Given the description of an element on the screen output the (x, y) to click on. 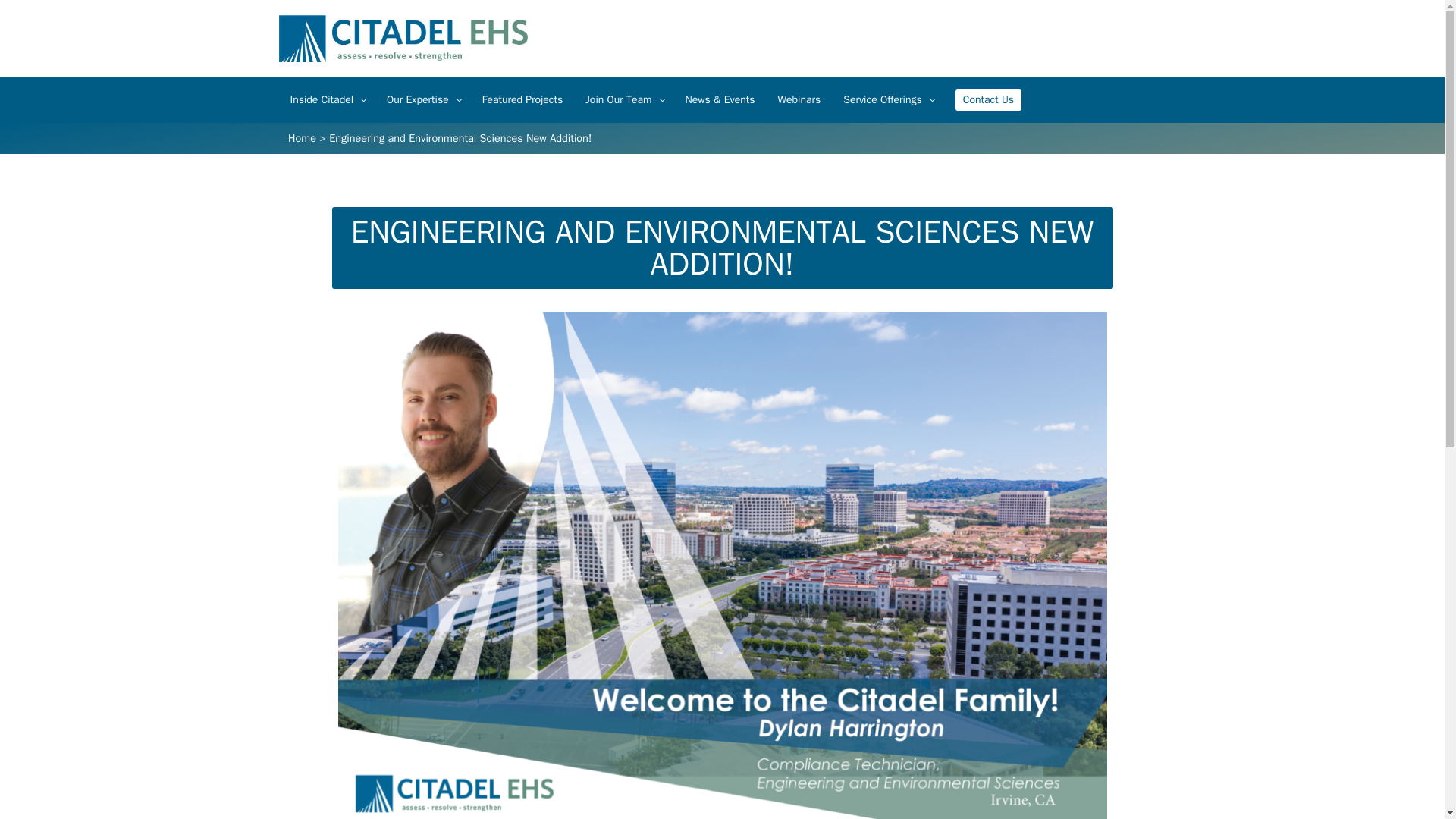
Service Offerings (887, 99)
Featured Projects (522, 99)
Our Expertise (422, 99)
Inside Citadel (327, 99)
Home (301, 137)
Contact Us (987, 99)
Webinars (799, 99)
Join Our Team (622, 99)
